Given the description of an element on the screen output the (x, y) to click on. 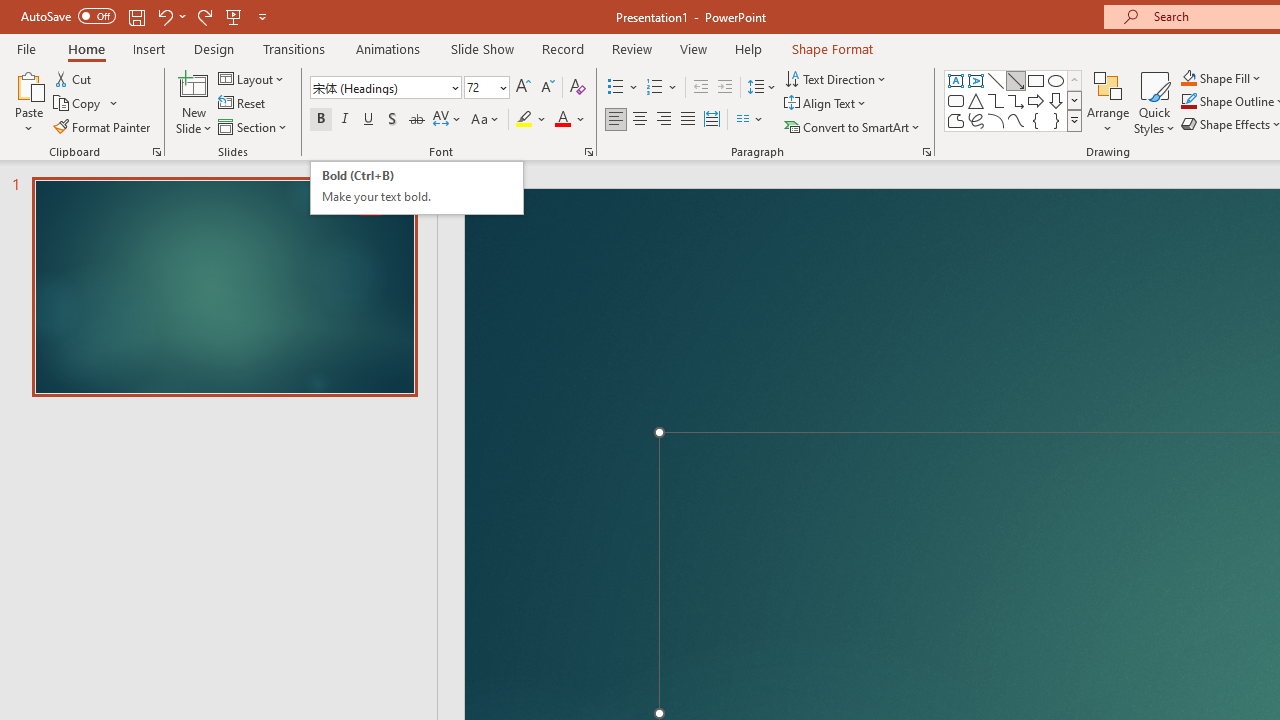
Section (254, 126)
Clear Formatting (577, 87)
Arc (995, 120)
Align Left (616, 119)
Row up (1074, 79)
Align Text (826, 103)
Bullets (623, 87)
Italic (344, 119)
Paragraph... (926, 151)
Font Color (569, 119)
Text Highlight Color Yellow (524, 119)
Rectangle: Rounded Corners (955, 100)
Justify (687, 119)
